Given the description of an element on the screen output the (x, y) to click on. 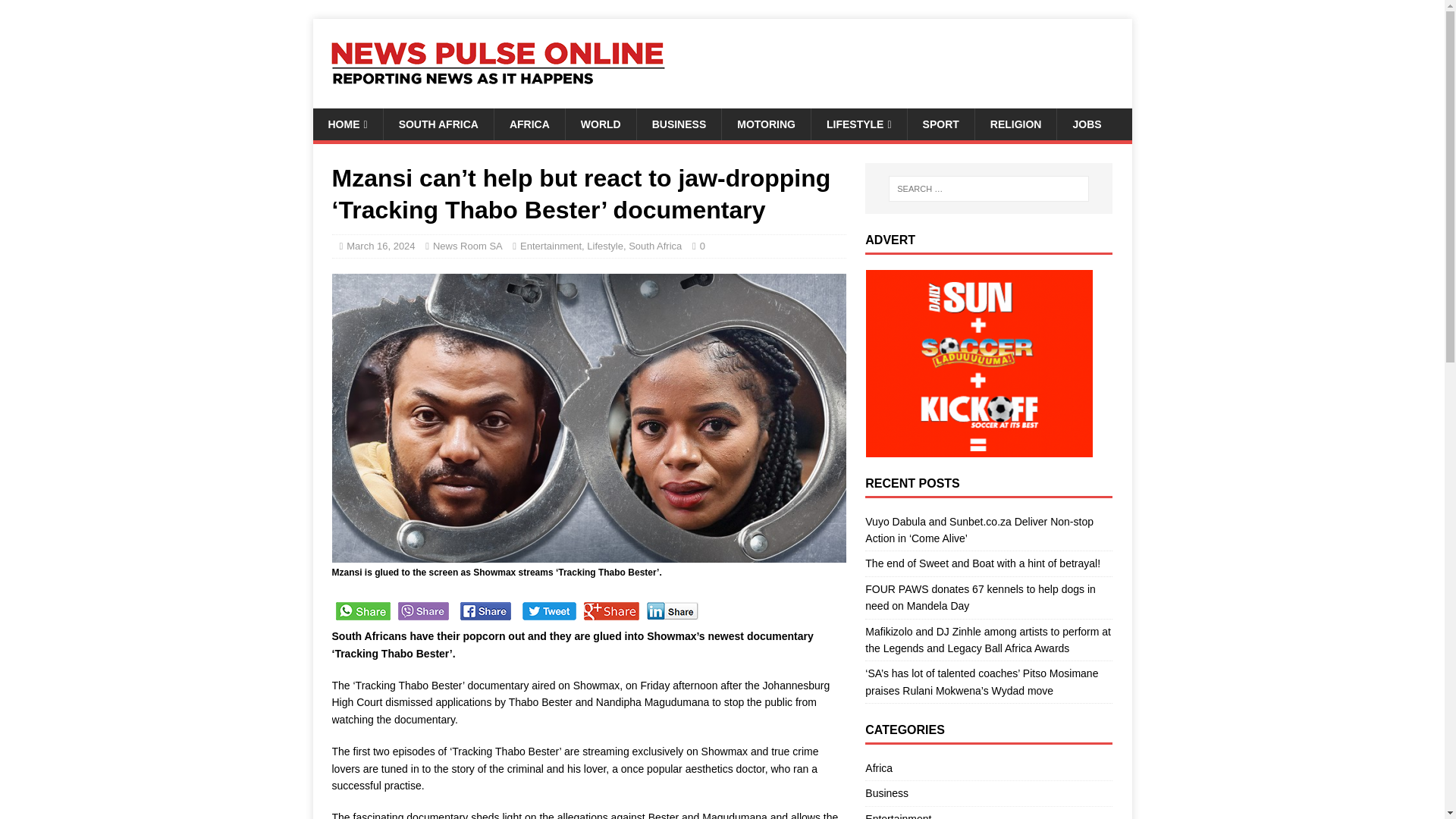
JOBS (1086, 124)
March 16, 2024 (380, 245)
SPORT (940, 124)
Entertainment (549, 245)
HOME (347, 124)
AFRICA (528, 124)
LIFESTYLE (858, 124)
WORLD (600, 124)
SOUTH AFRICA (437, 124)
News Room SA (467, 245)
RELIGION (1015, 124)
South Africa (654, 245)
MOTORING (765, 124)
BUSINESS (679, 124)
